Given the description of an element on the screen output the (x, y) to click on. 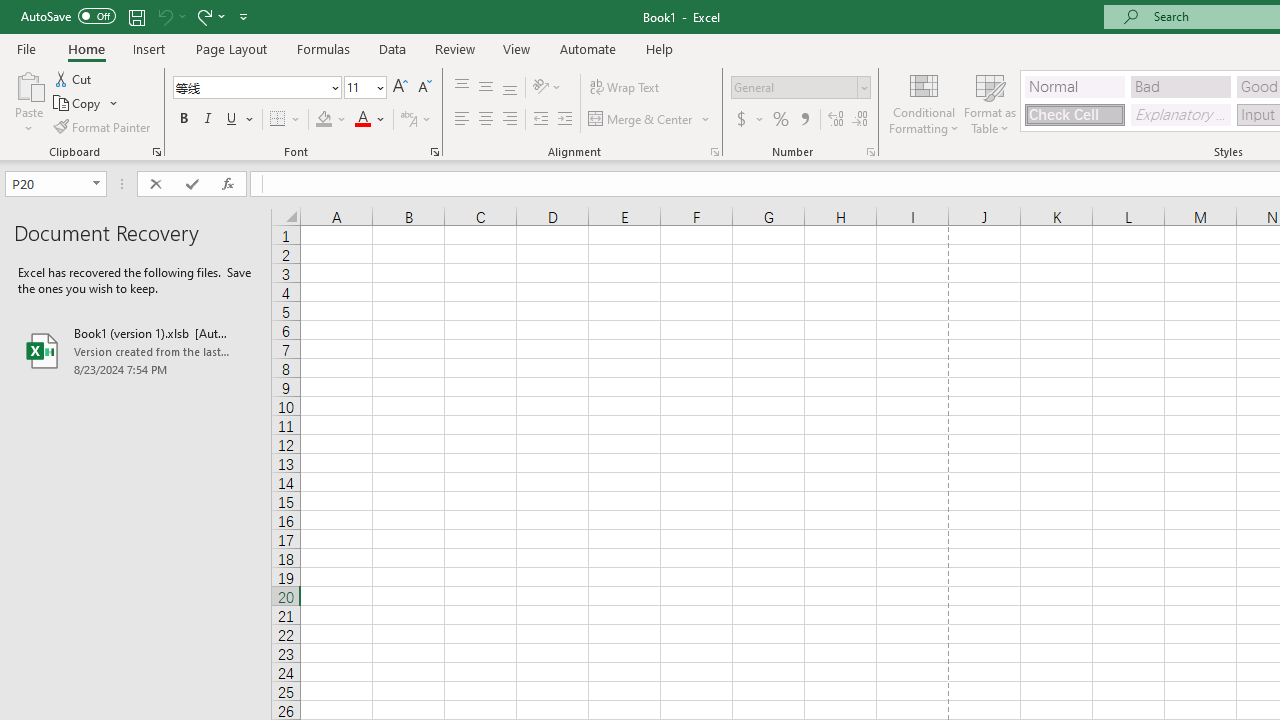
Paste (28, 102)
Fill Color (331, 119)
Fill Color RGB(255, 255, 0) (324, 119)
Format Cell Alignment (714, 151)
Copy (85, 103)
Format Cell Number (870, 151)
Check Cell (1074, 114)
